Given the description of an element on the screen output the (x, y) to click on. 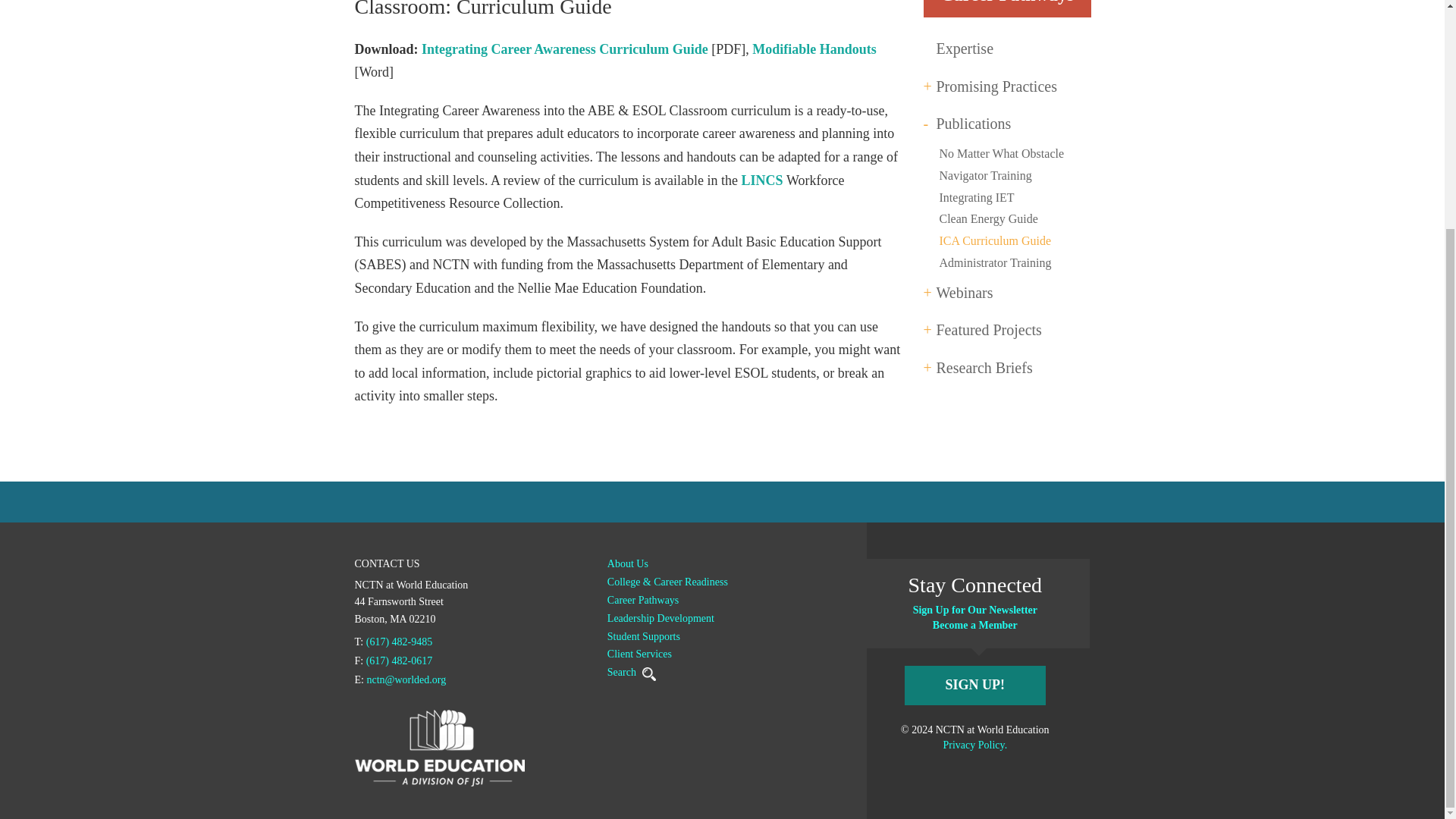
LINCS  (763, 180)
Promising Practices (996, 87)
Integrating Career Awareness Curriculum Guide (564, 48)
Modifiable Handouts (814, 48)
Expertise (964, 49)
